Given the description of an element on the screen output the (x, y) to click on. 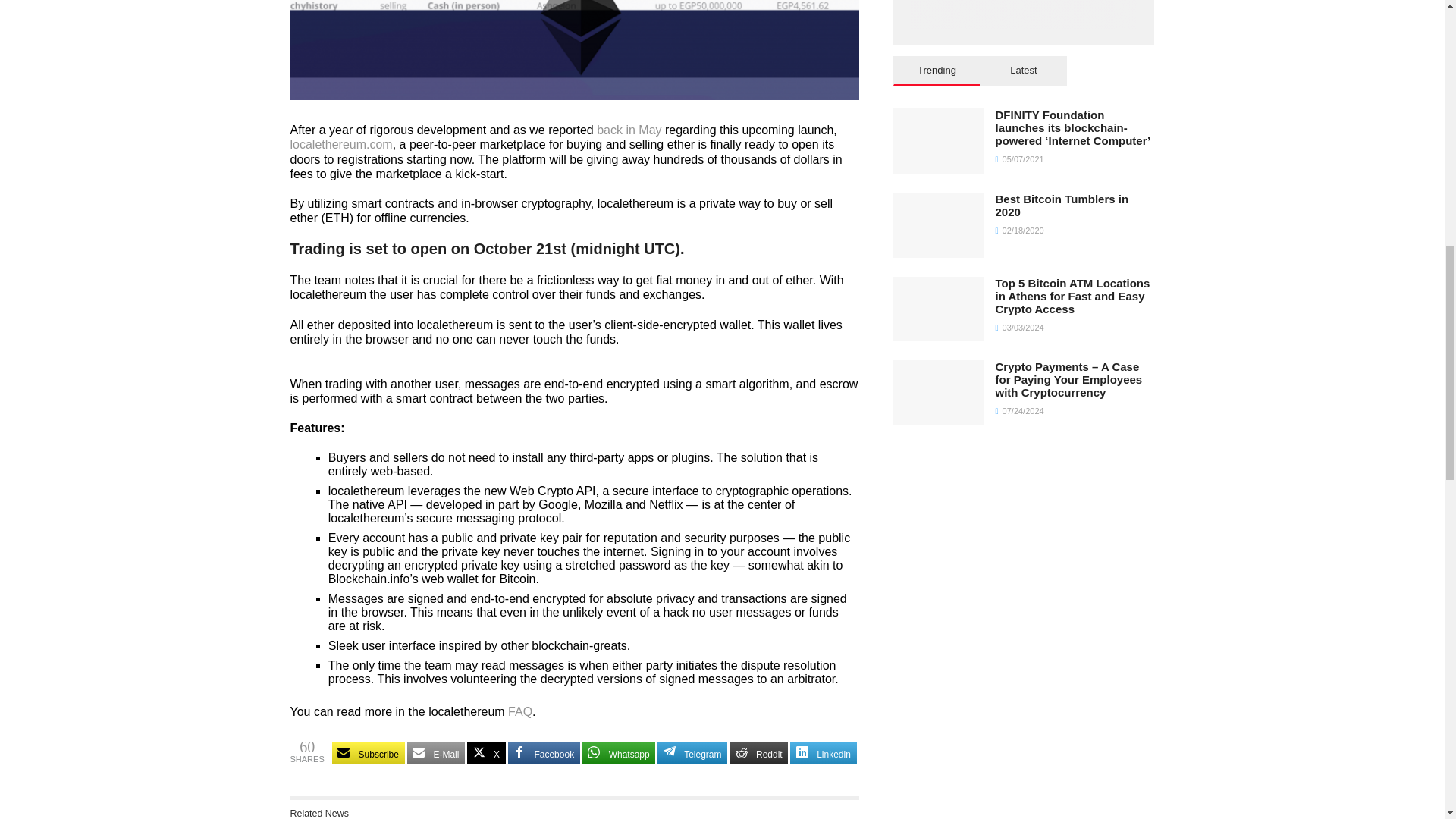
Whatsapp (619, 752)
3rd party ad content (1023, 14)
Subscribe (367, 752)
localethereum.com (340, 144)
X (486, 752)
Facebook (543, 752)
back in May (628, 129)
E-Mail (436, 752)
FAQ (520, 711)
